Given the description of an element on the screen output the (x, y) to click on. 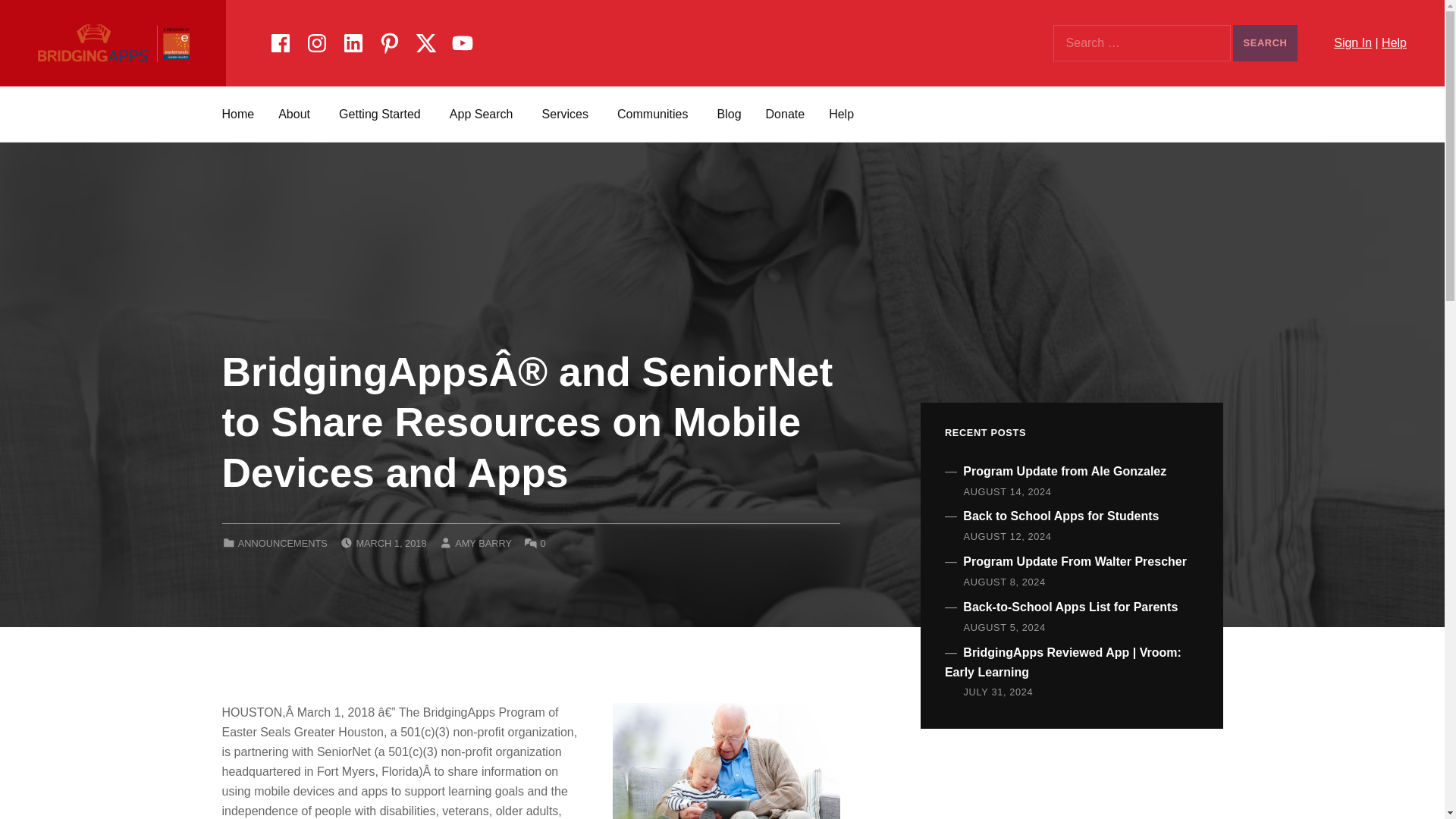
Pinterest (389, 40)
Twitter (425, 40)
Getting Started (382, 114)
Sign In (1352, 42)
App Search (483, 114)
Search (1265, 43)
Search (1265, 43)
Services (566, 114)
BridgingApps (109, 43)
Search (1265, 43)
